Given the description of an element on the screen output the (x, y) to click on. 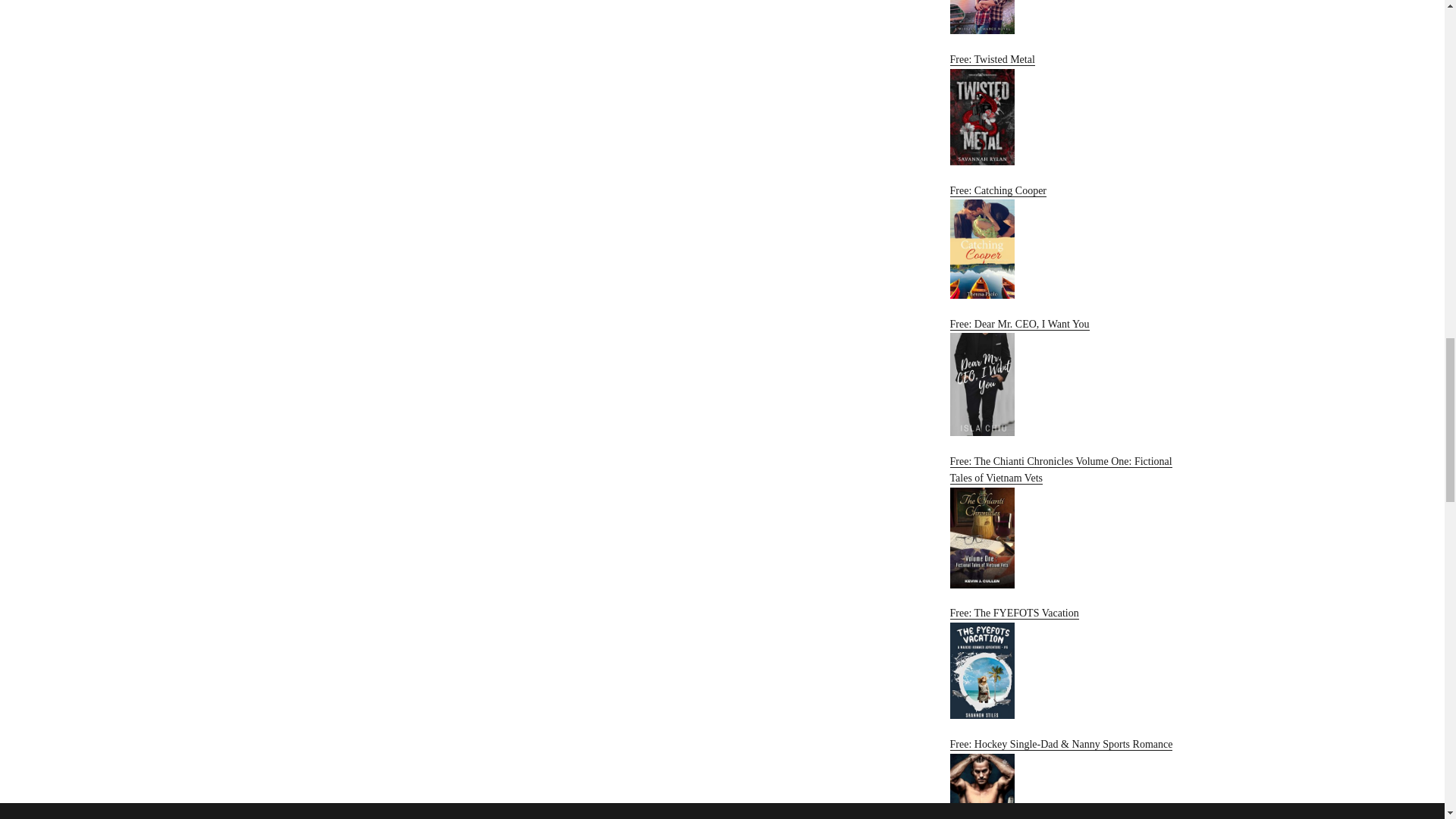
Free: Catching Cooper (1062, 241)
Free: Wish I Might (1062, 17)
Free: Twisted Metal (1062, 109)
